Given the description of an element on the screen output the (x, y) to click on. 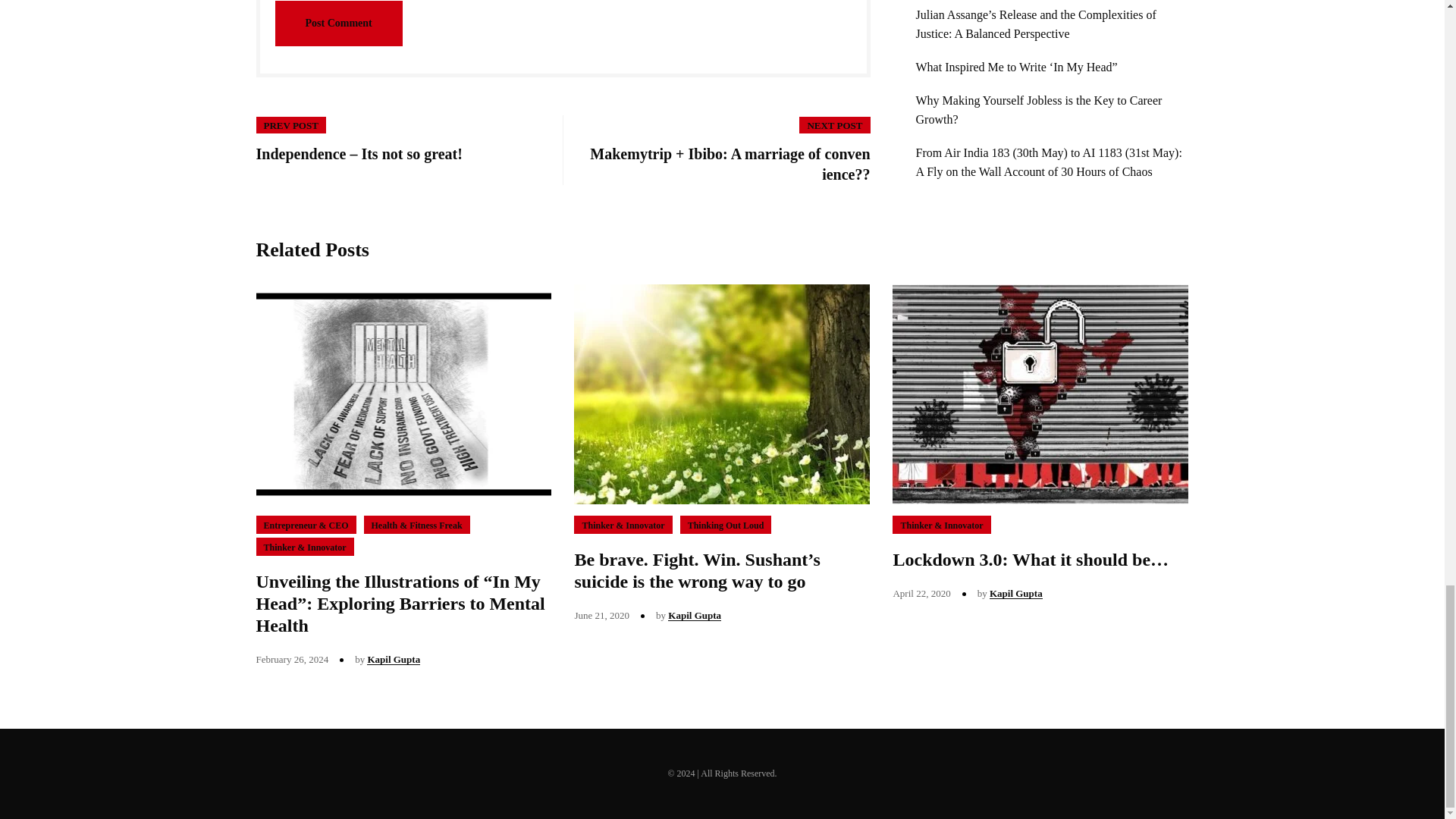
Post Comment (338, 22)
